Given the description of an element on the screen output the (x, y) to click on. 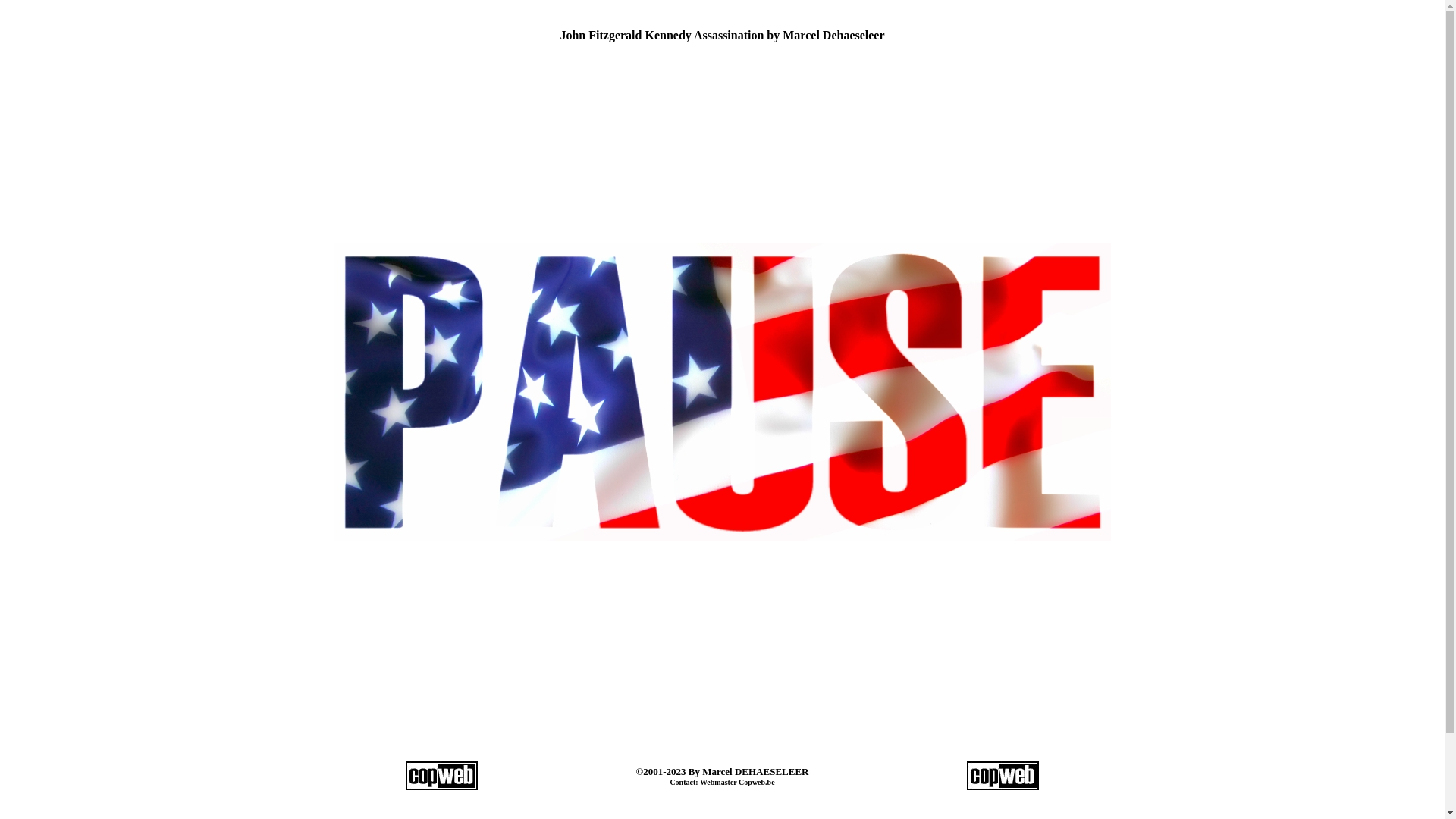
Webmaster Copweb.be Element type: text (737, 782)
